Given the description of an element on the screen output the (x, y) to click on. 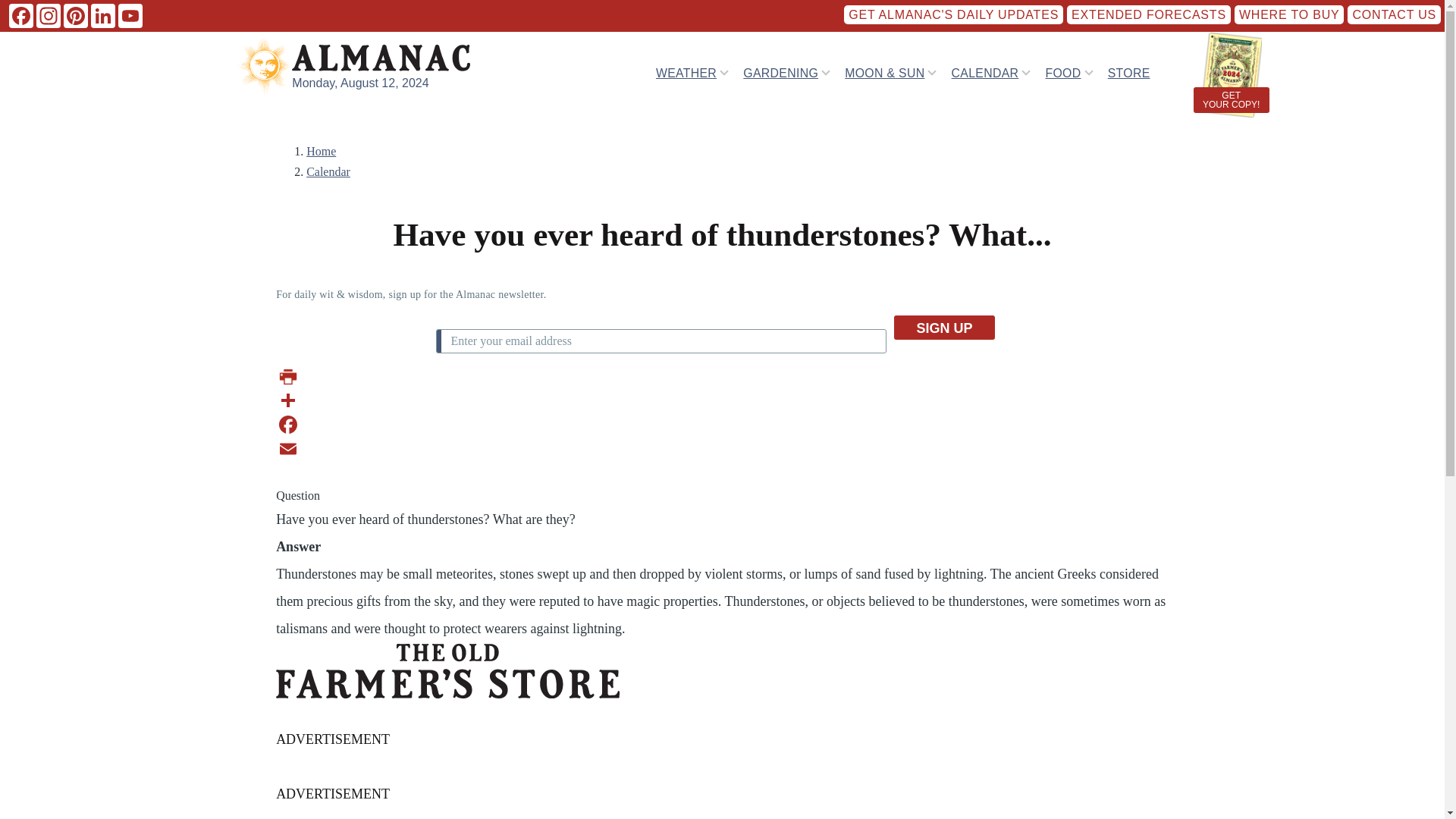
Facebook (20, 15)
LinkedIn (102, 15)
CONTACT US (1394, 14)
GET ALMANAC'S DAILY UPDATES (953, 14)
Pinterest (75, 15)
Sign Up (943, 327)
Instagram (48, 15)
WHERE TO BUY (1288, 14)
Skip to main content (595, 6)
GARDENING (780, 72)
